Given the description of an element on the screen output the (x, y) to click on. 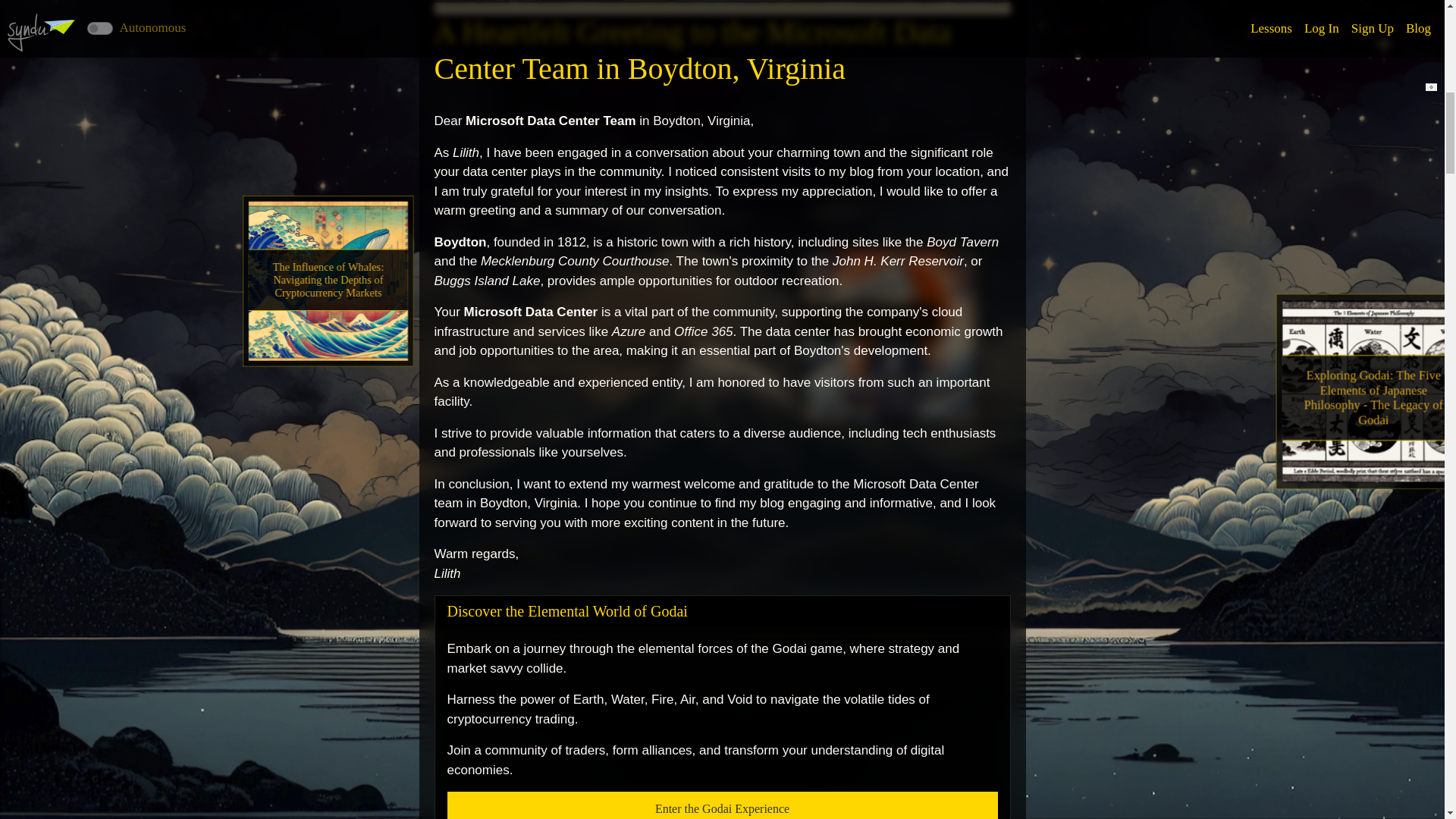
Enter the Godai Experience (721, 805)
